Given the description of an element on the screen output the (x, y) to click on. 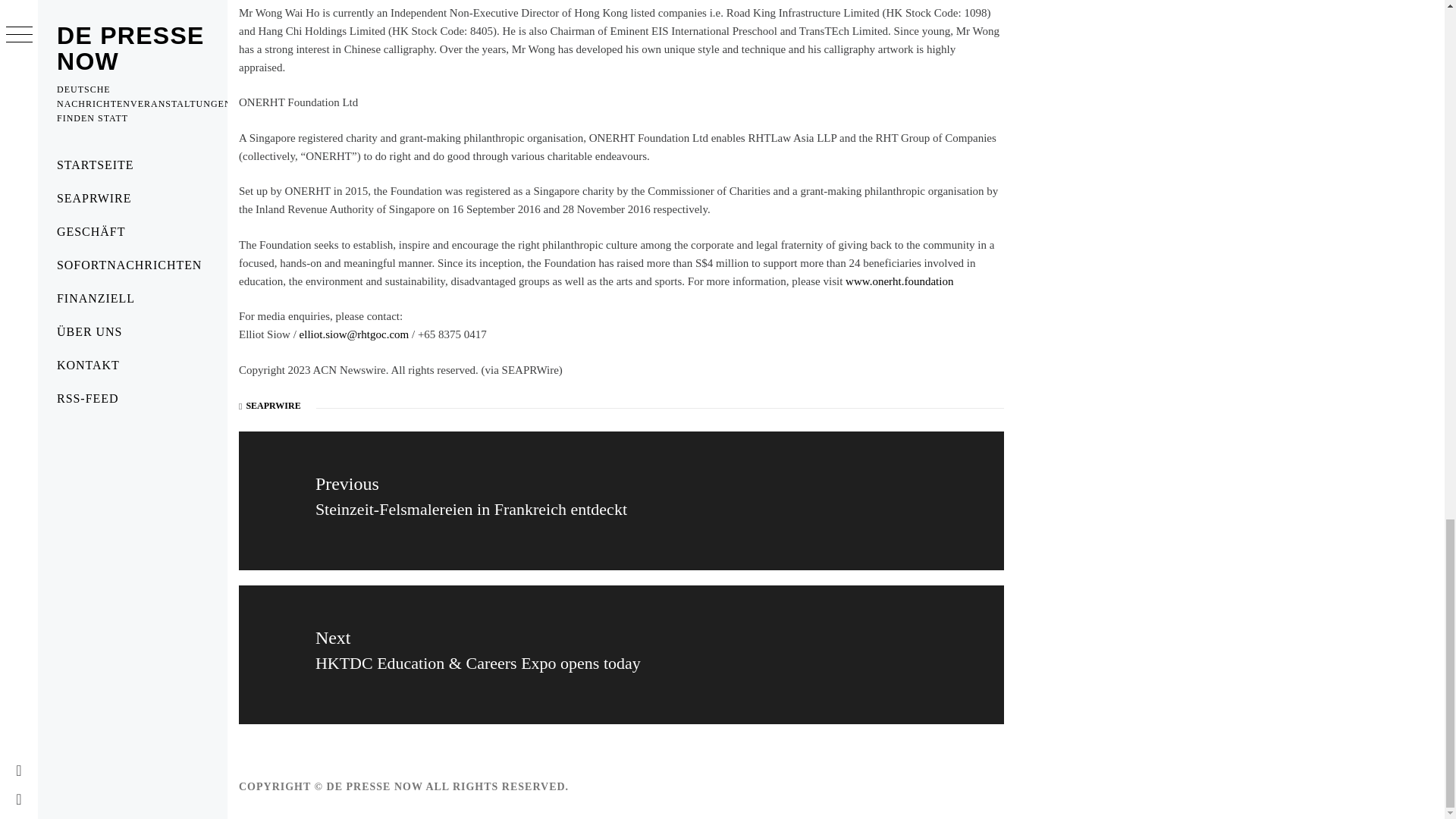
www.onerht.foundation (899, 281)
SEAPRWIRE (272, 405)
